Given the description of an element on the screen output the (x, y) to click on. 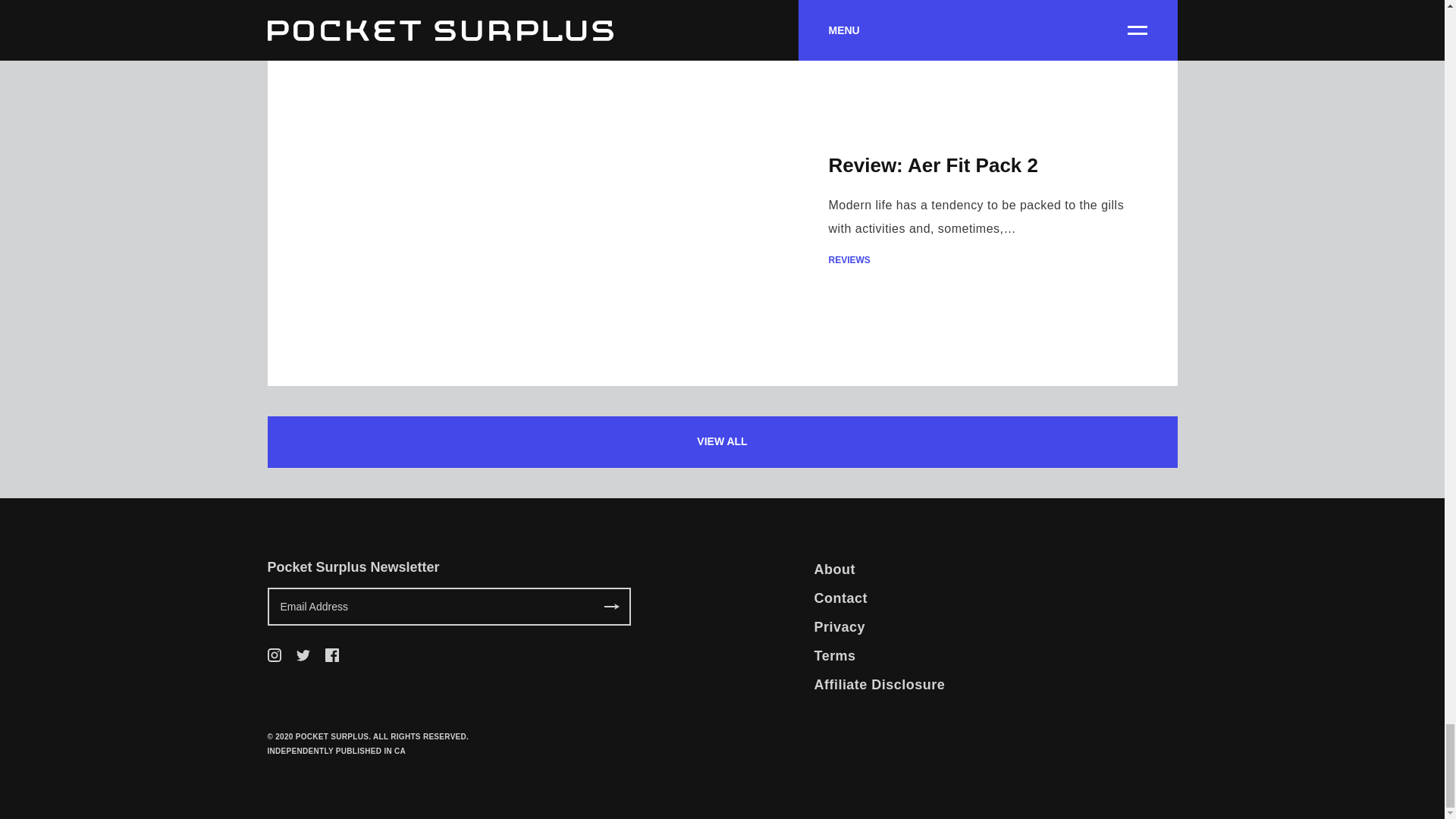
VIEW ALL (721, 441)
Review: Aer Fit Pack 2 (933, 164)
Contact (840, 597)
About (834, 572)
REVIEWS (987, 259)
